Given the description of an element on the screen output the (x, y) to click on. 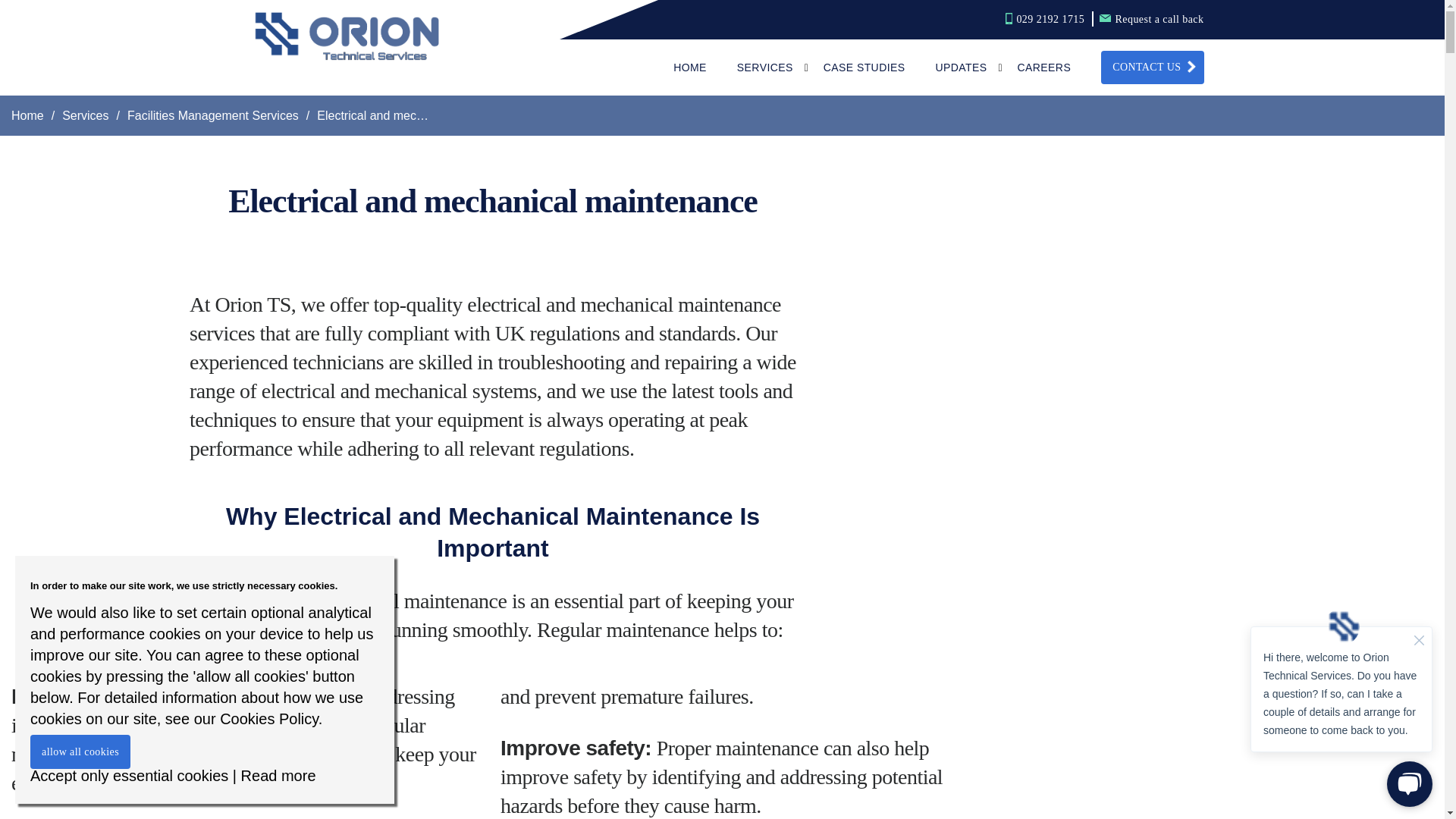
SERVICES (764, 67)
HOME (689, 67)
Facilities Management Services (213, 115)
Request a call back (1151, 19)
Services (84, 115)
CAREERS (1044, 67)
Electrical and mechanical maintenance (422, 115)
029 2192 1715 (1045, 19)
CONTACT US (1152, 67)
Facilities Management Services (213, 115)
Home (27, 115)
Services (84, 115)
Home (27, 115)
UPDATES (961, 67)
CASE STUDIES (864, 67)
